Given the description of an element on the screen output the (x, y) to click on. 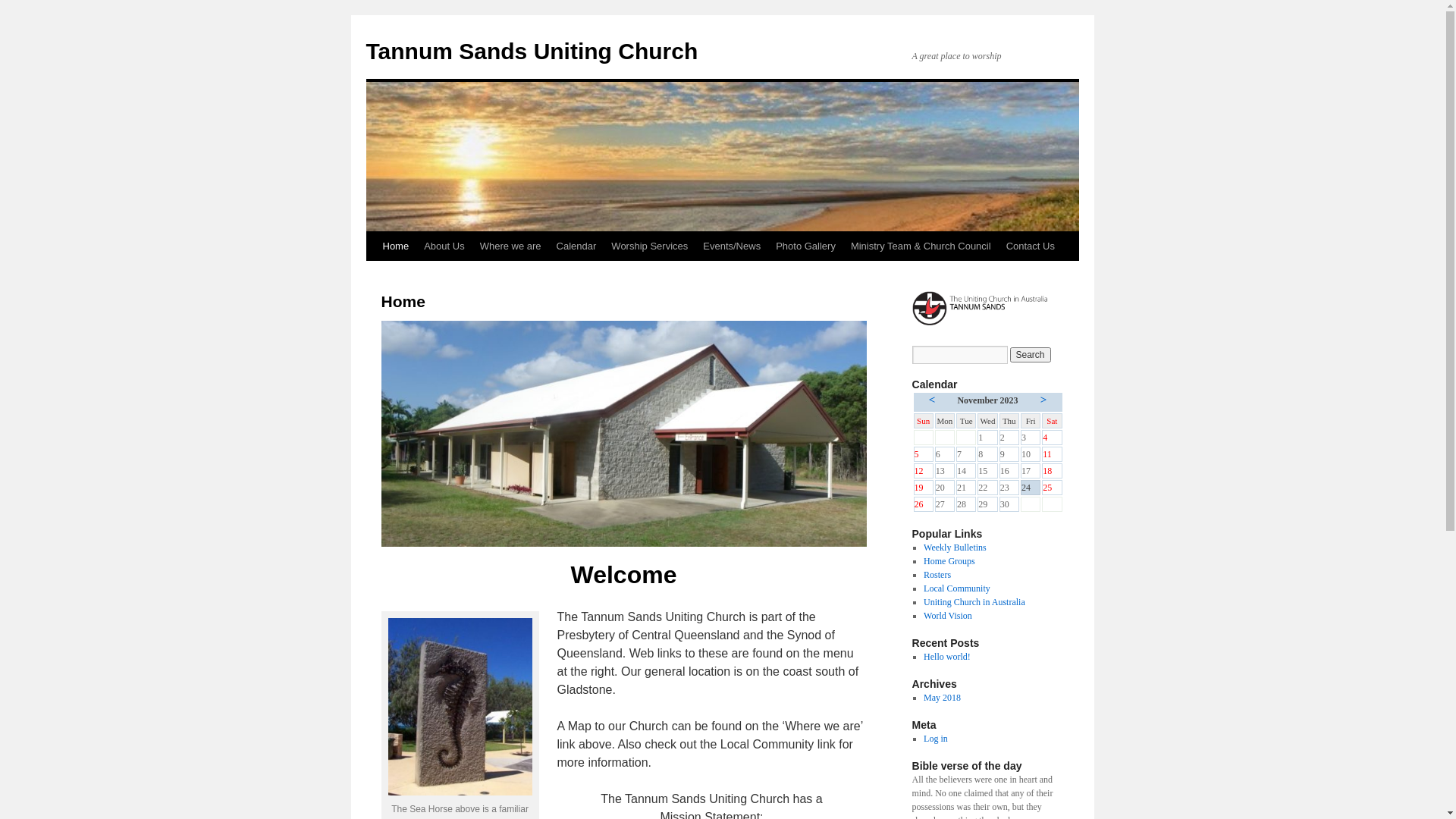
World Vision Element type: text (947, 615)
Skip to content Element type: text (372, 274)
Contact Us Element type: text (1030, 246)
Rosters Element type: text (936, 574)
Calendar Element type: text (576, 246)
Log in Element type: text (935, 738)
Events/News Element type: text (731, 246)
> Element type: text (1043, 399)
Where we are Element type: text (510, 246)
Local Community Element type: text (956, 588)
May 2018 Element type: text (941, 697)
Uniting Church in Australia Element type: text (974, 601)
< Element type: text (931, 399)
Weekly Bulletins Element type: text (954, 547)
Photo Gallery Element type: text (805, 246)
About Us Element type: text (443, 246)
Home Element type: text (395, 246)
Tannum Sands Uniting Church Element type: text (531, 50)
Search Element type: text (1030, 354)
Ministry Team & Church Council Element type: text (920, 246)
Home Groups Element type: text (949, 560)
Worship Services Element type: text (649, 246)
Hello world! Element type: text (946, 656)
